Given the description of an element on the screen output the (x, y) to click on. 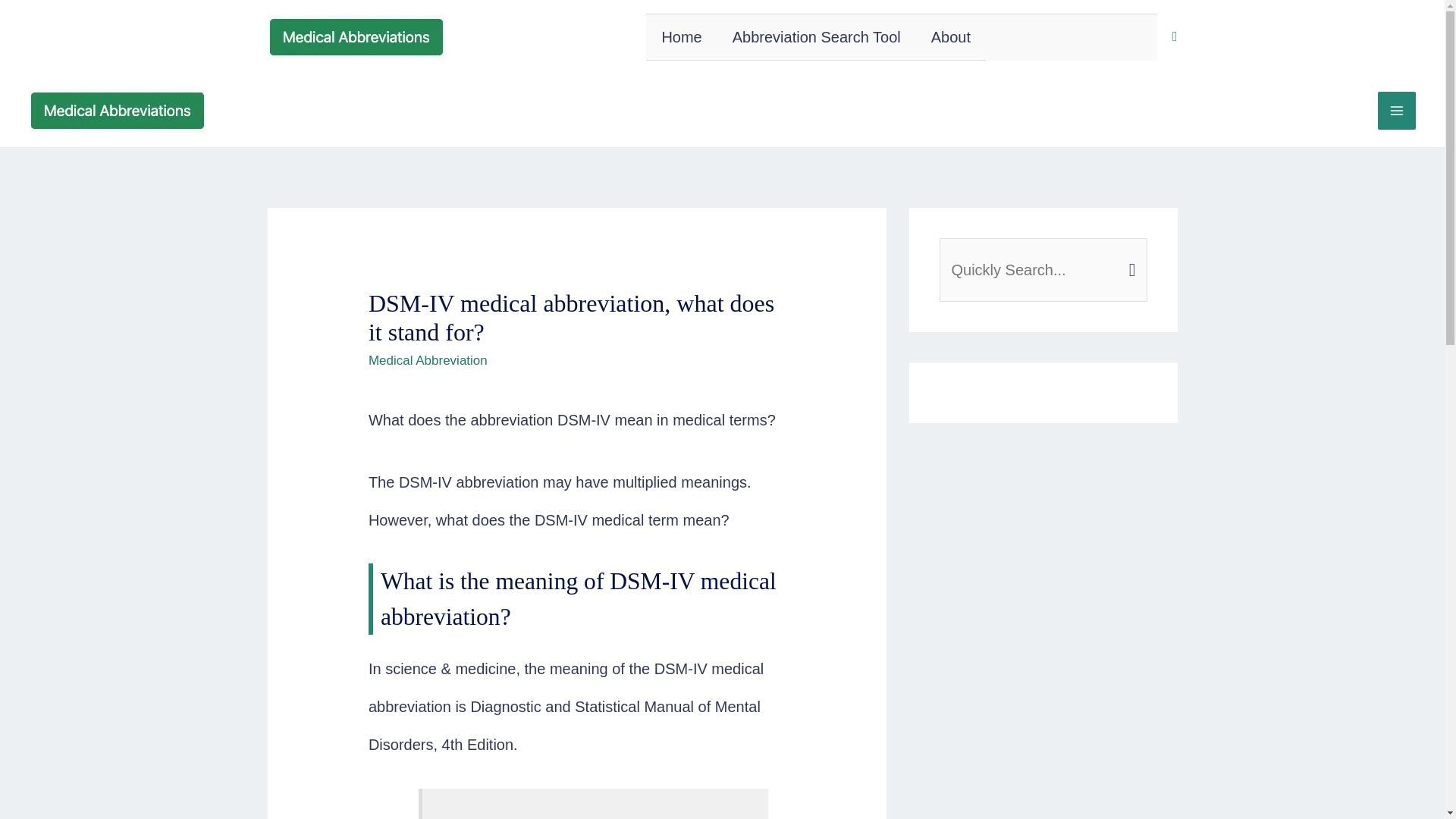
Abbreviation Search Tool (816, 36)
Search (1130, 255)
Home (681, 36)
Medical Abbreviation (427, 359)
Search (1130, 255)
Main Menu (1396, 109)
About (950, 36)
Search (1130, 255)
